Given the description of an element on the screen output the (x, y) to click on. 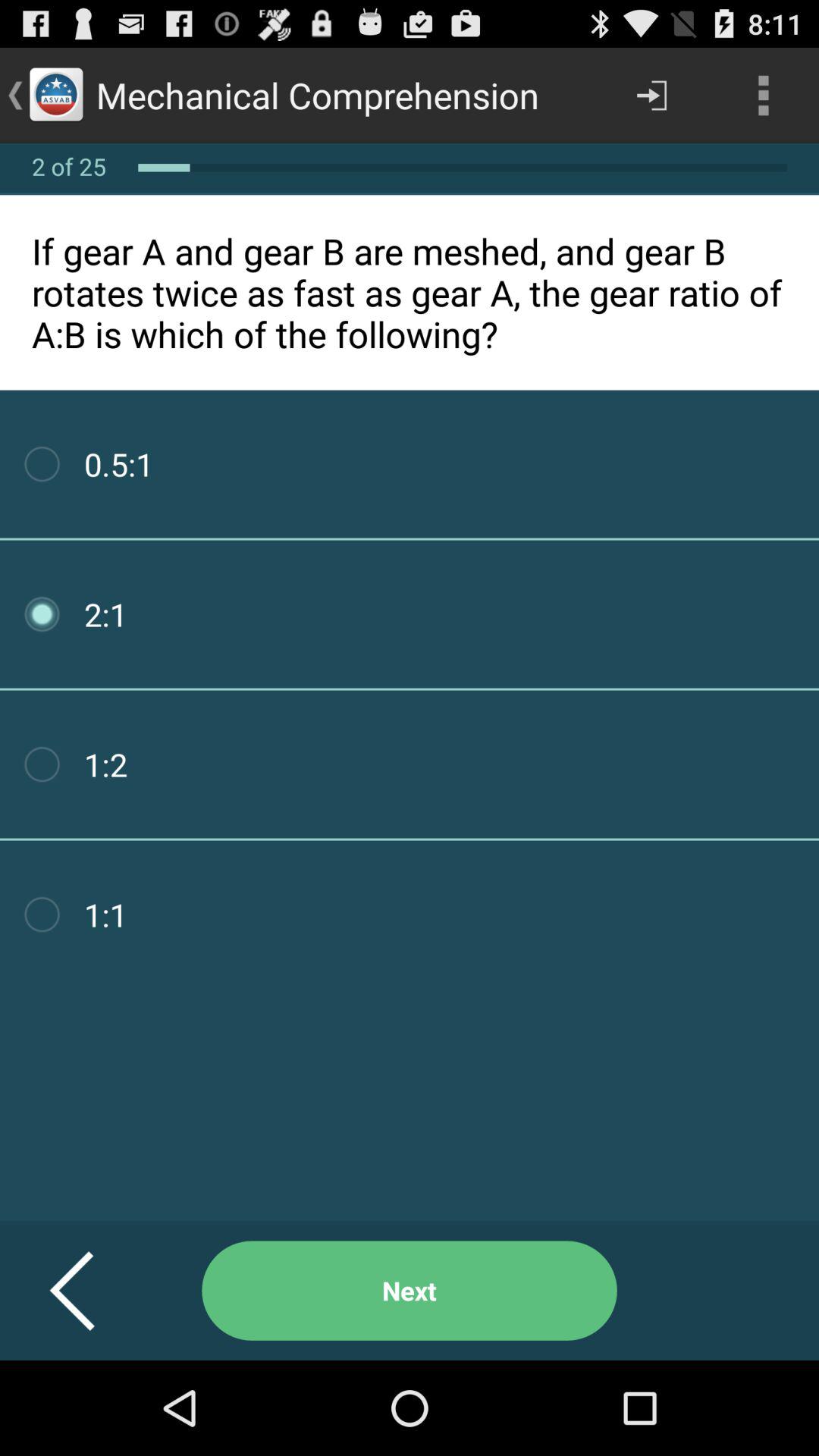
launch the app next to the mechanical comprehension app (651, 95)
